Given the description of an element on the screen output the (x, y) to click on. 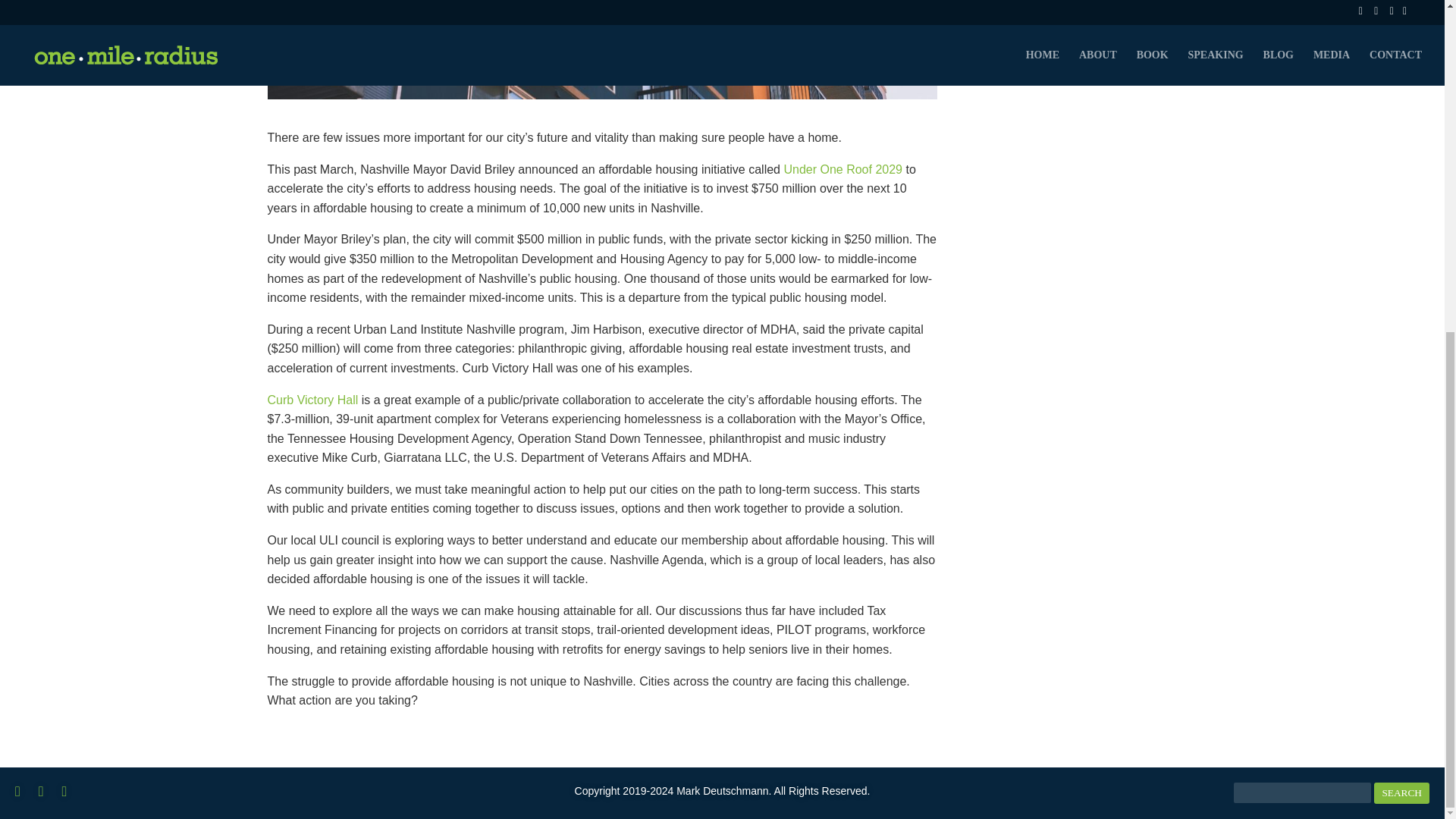
Under One Roof 2029 (842, 169)
Search (1401, 792)
Curb Victory Hall (312, 399)
Search (1401, 792)
